Given the description of an element on the screen output the (x, y) to click on. 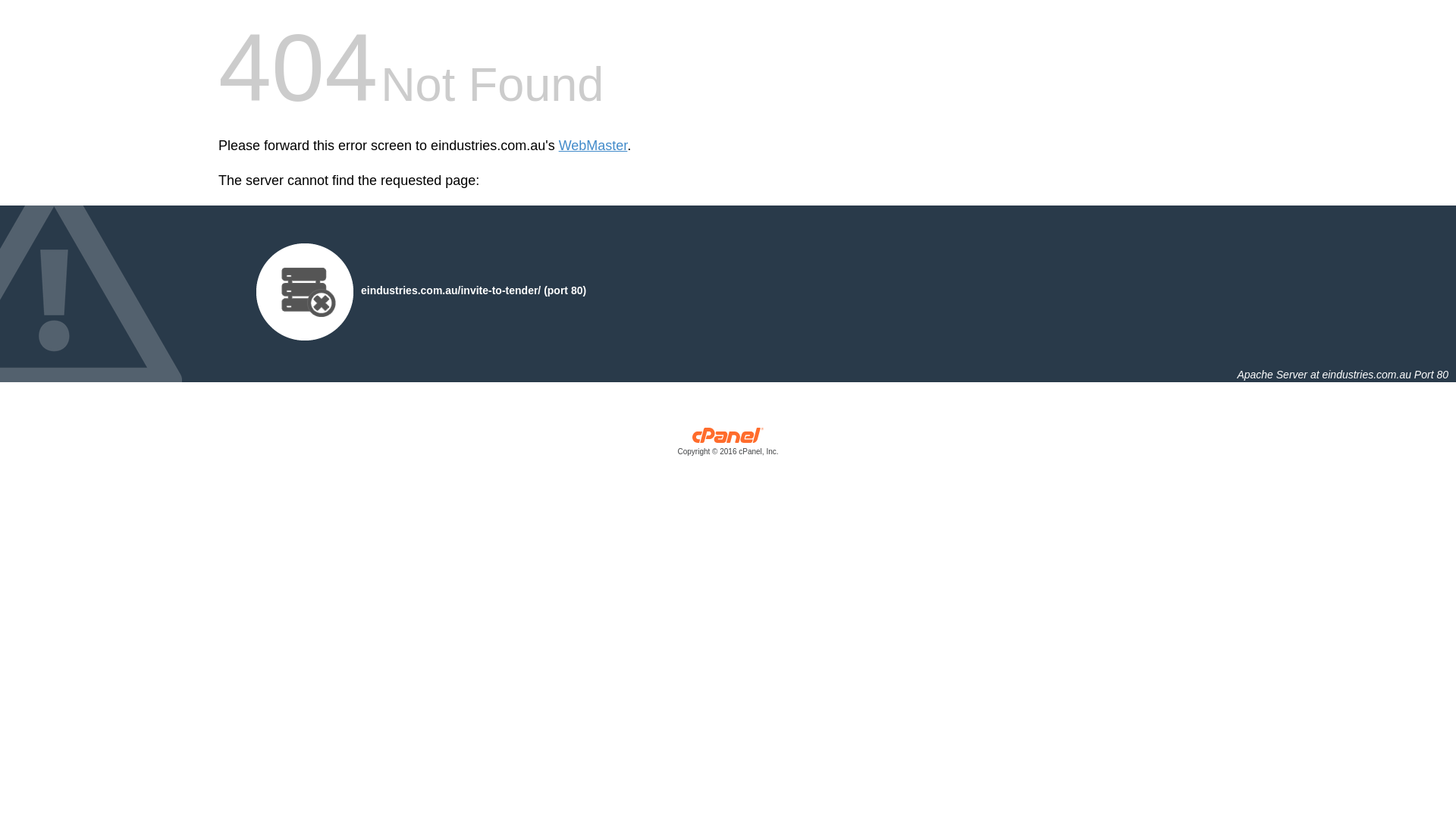
WebMaster Element type: text (592, 145)
